Given the description of an element on the screen output the (x, y) to click on. 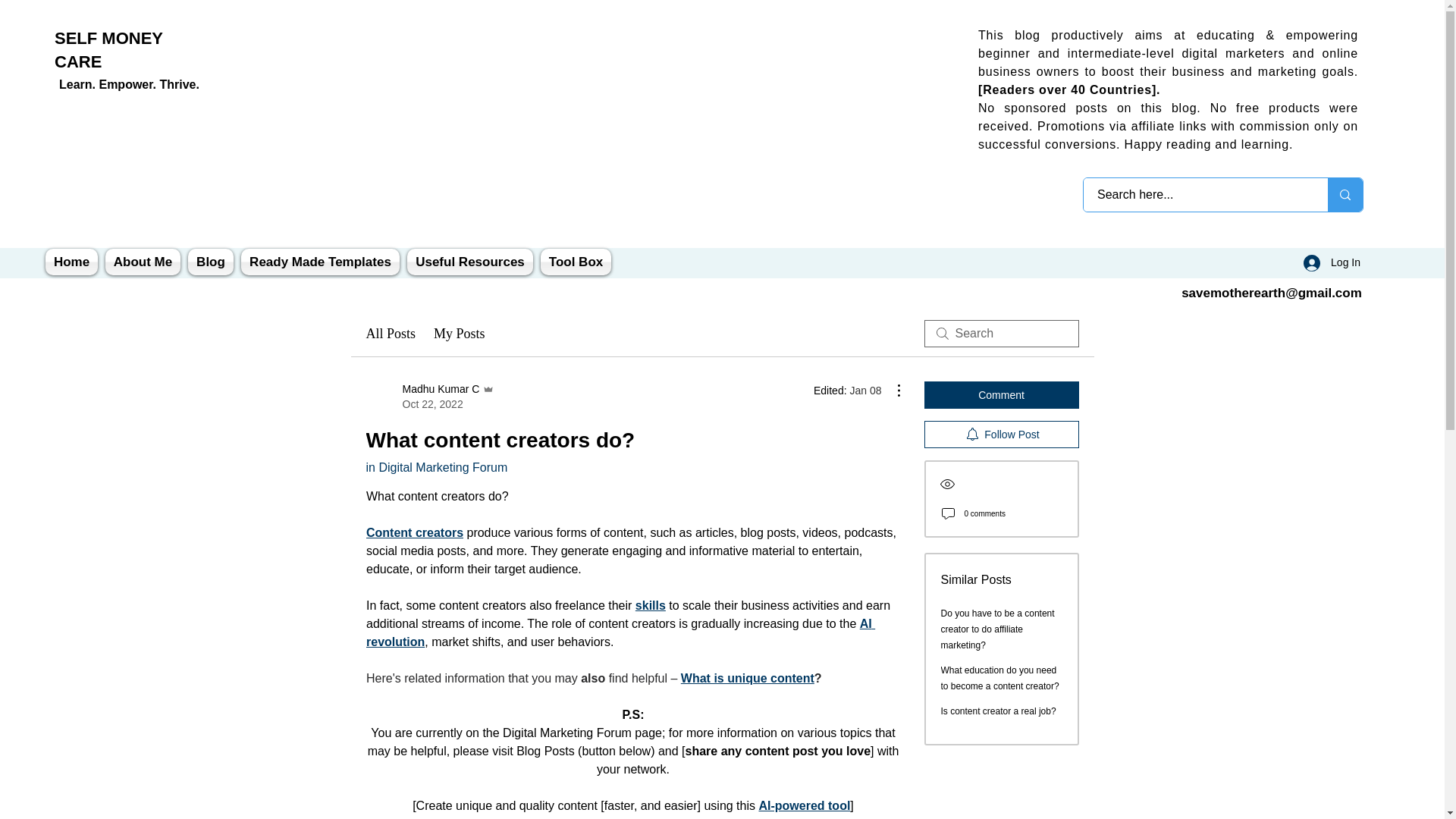
All Posts (430, 396)
Follow Post (389, 333)
Blog (1000, 433)
in Digital Marketing Forum (210, 261)
Useful Resources (435, 467)
About Me (470, 261)
Comment (142, 261)
Ready Made Templates (1000, 394)
skills (320, 261)
